Given the description of an element on the screen output the (x, y) to click on. 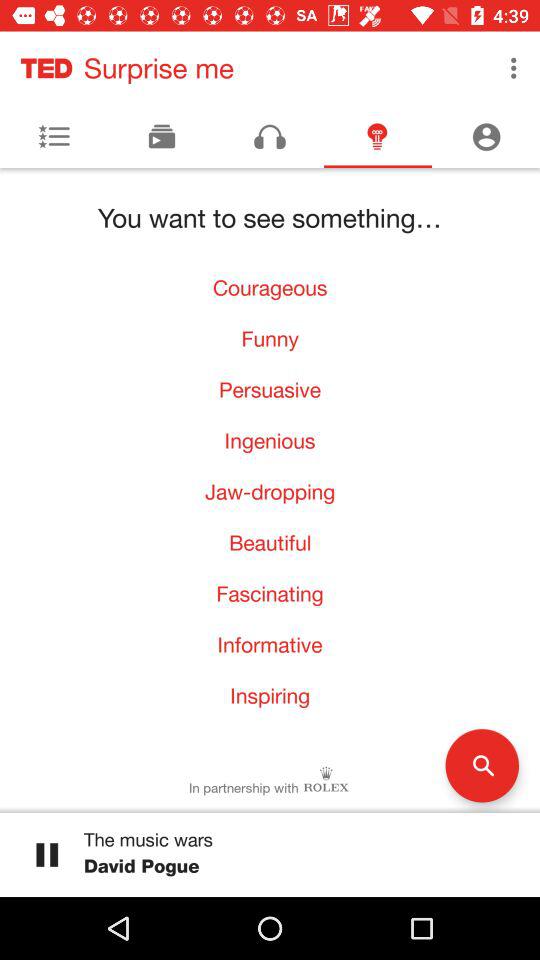
press fascinating (270, 593)
